Given the description of an element on the screen output the (x, y) to click on. 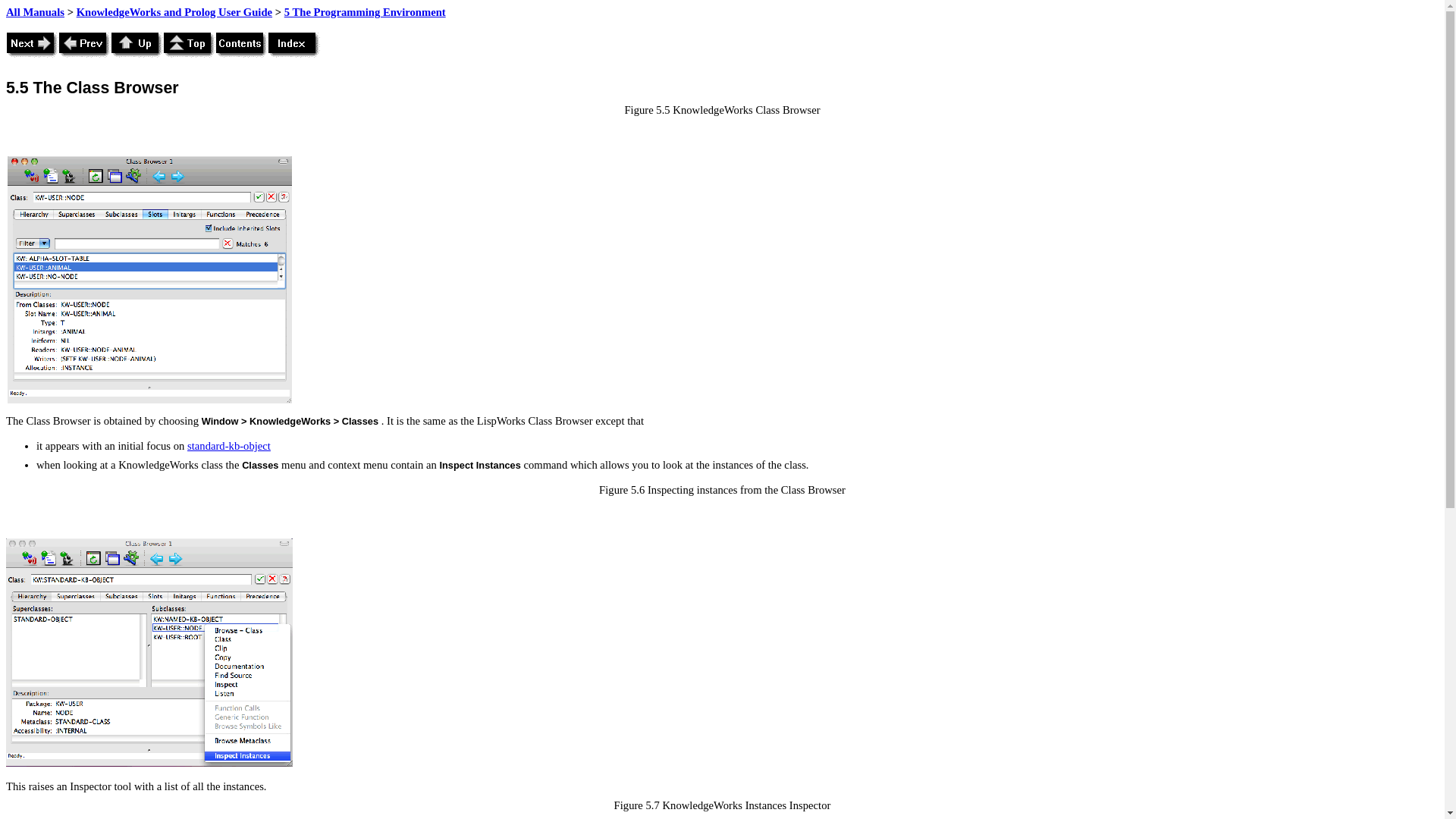
5 The Programming Environment (364, 11)
All Manuals (34, 11)
standard-kb-object (228, 445)
KnowledgeWorks and Prolog User Guide (174, 11)
